Given the description of an element on the screen output the (x, y) to click on. 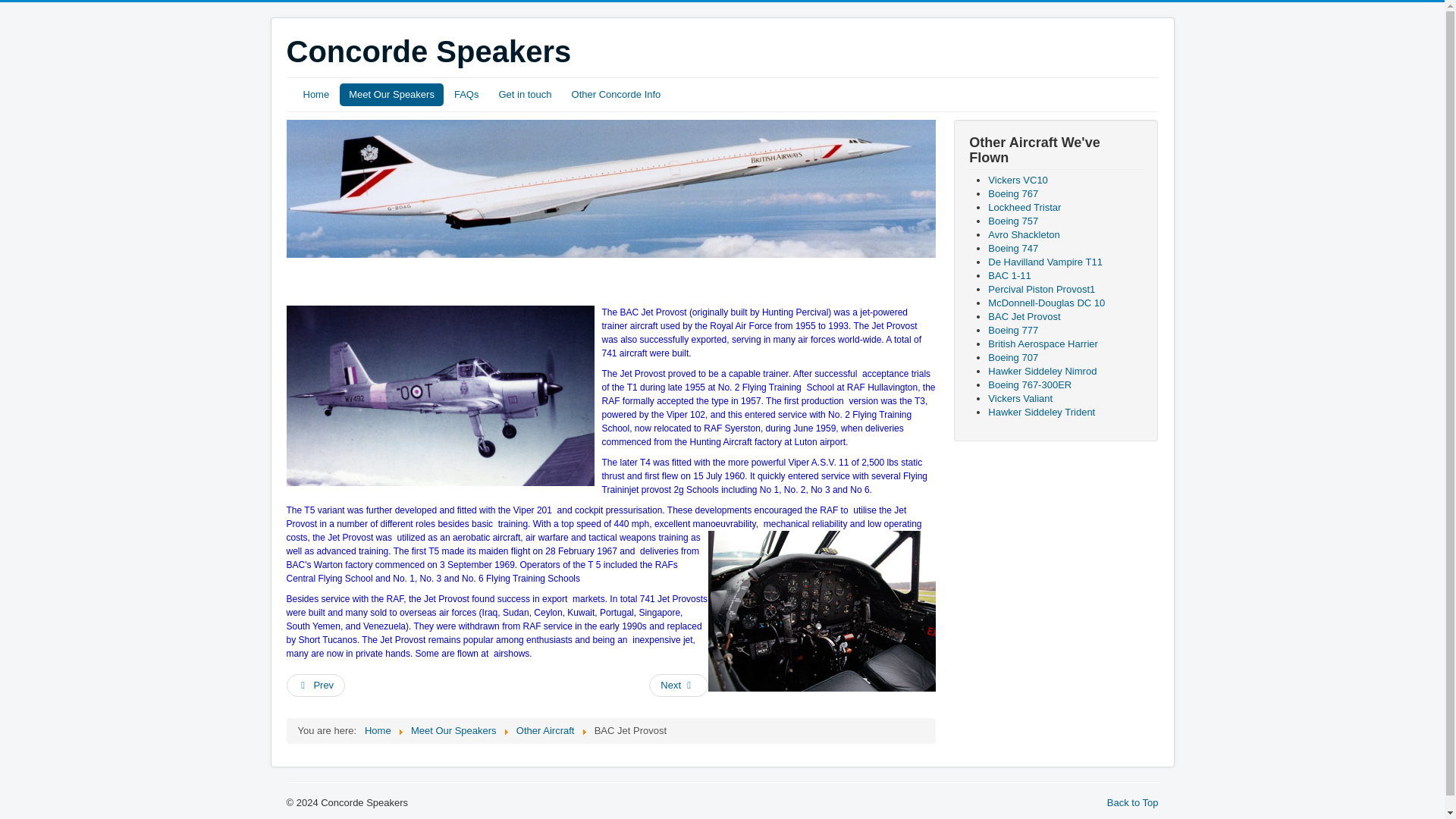
Meet Our Speakers (391, 94)
Home (378, 730)
Hawker Siddeley Nimrod (1042, 370)
Get in touch (524, 94)
British Aerospace Harrier (1042, 343)
Other Aircraft (545, 730)
Other Concorde Info (615, 94)
Boeing 747 (1013, 247)
Vickers Valiant (1020, 398)
De Havilland Vampire T11 (1045, 261)
